Given the description of an element on the screen output the (x, y) to click on. 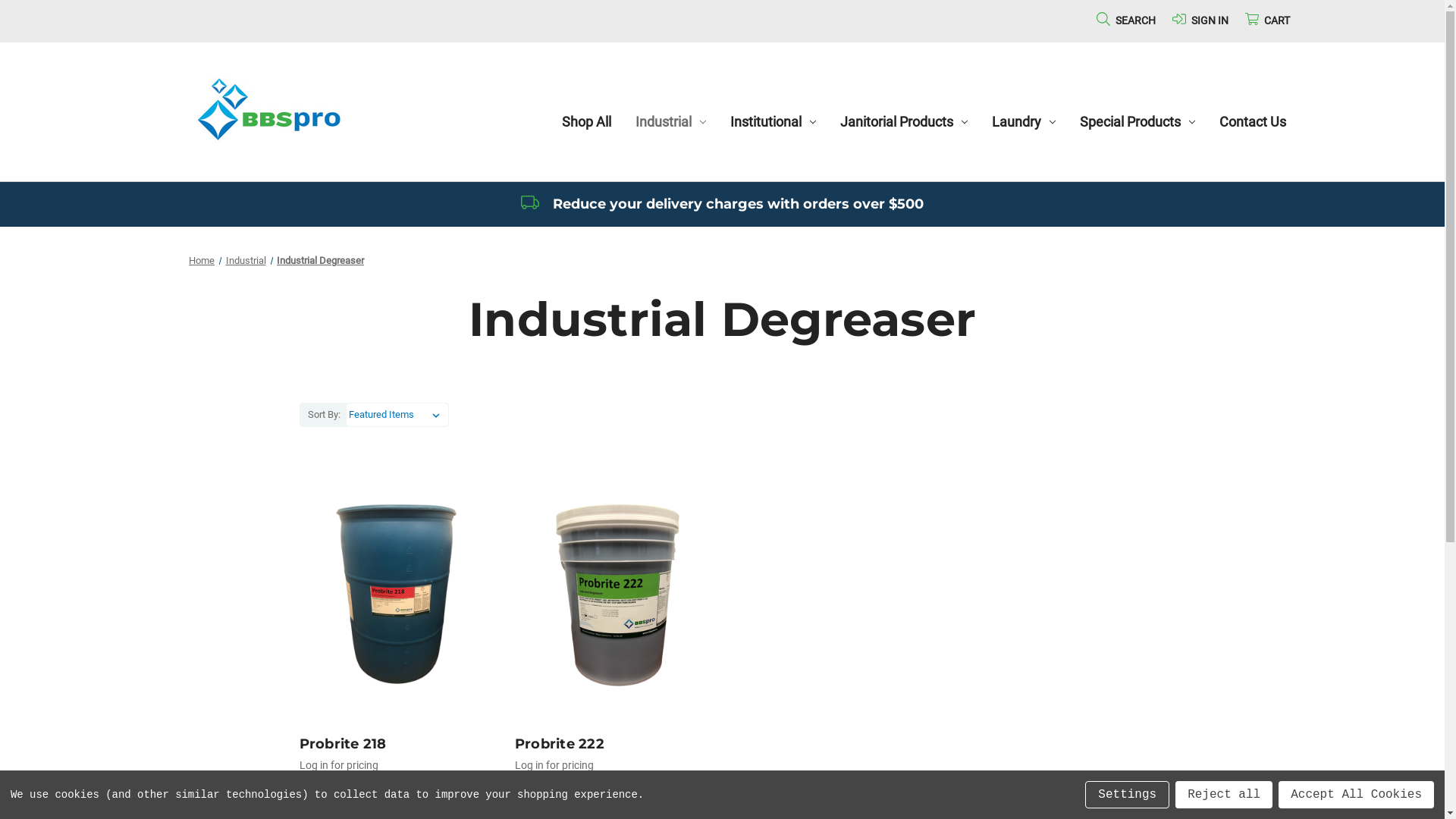
Shop All Element type: text (586, 121)
Contact Us Element type: text (1252, 121)
Reject all Element type: text (1223, 794)
Skip to main content Element type: text (722, 20)
Home Element type: text (201, 260)
Probrite 218 Element type: text (398, 744)
Industrial Element type: text (670, 121)
Settings Element type: text (1127, 794)
Institutional Element type: text (772, 121)
Industrial Element type: text (245, 260)
BBSpro - B2B Store Element type: hover (268, 109)
SEARCH Element type: text (1126, 19)
Probrite 222 Element type: hover (614, 594)
SIGN IN Element type: text (1200, 19)
Laundry Element type: text (1023, 121)
CART Element type: text (1267, 19)
Special Products Element type: text (1137, 121)
Probrite 222 Element type: text (614, 744)
Probrite 218 Element type: hover (398, 594)
Accept All Cookies Element type: text (1356, 794)
Janitorial Products Element type: text (903, 121)
Industrial Degreaser Element type: text (320, 260)
